Given the description of an element on the screen output the (x, y) to click on. 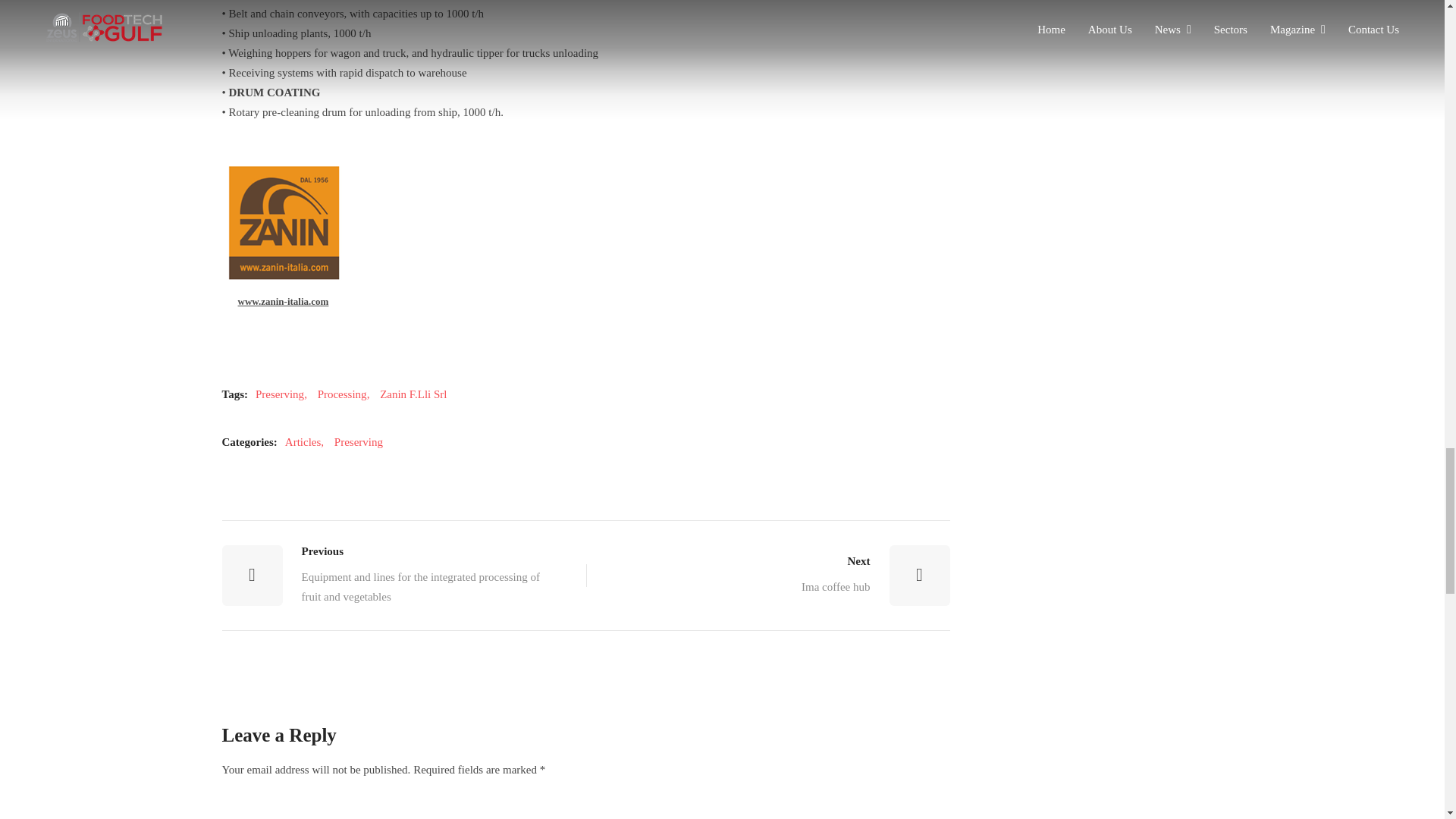
Preserving (280, 394)
www.zanin-italia.com (283, 301)
Processing (767, 575)
Preserving (341, 394)
Articles (358, 442)
Zanin F.Lli Srl (302, 442)
